Given the description of an element on the screen output the (x, y) to click on. 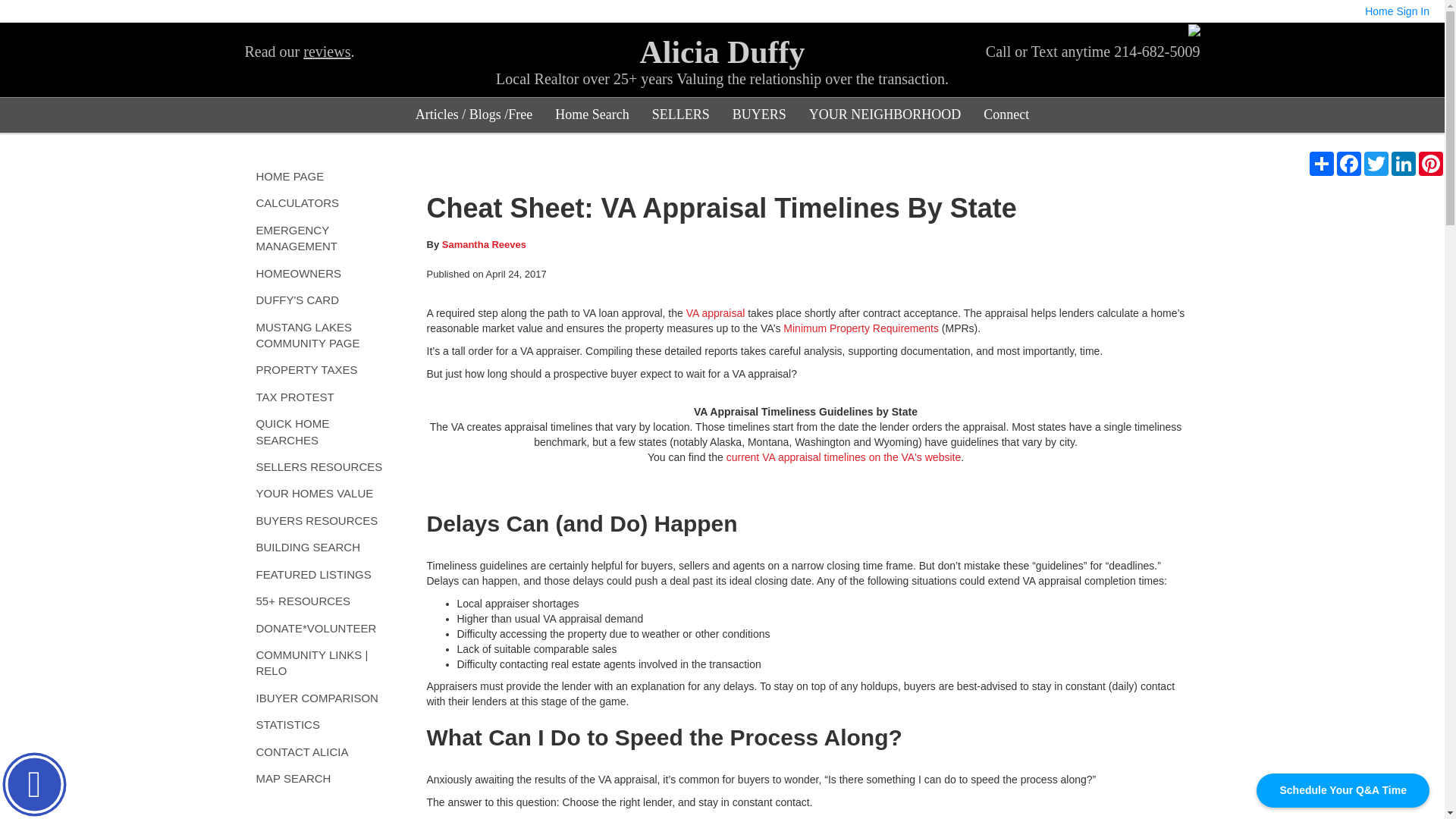
HOMEOWNERS (320, 273)
DUFFY'S CARD (320, 299)
reviews (326, 51)
Home (1379, 10)
Connect (1006, 114)
Tips and Advice on everything related to your home. (473, 114)
MUSTANG LAKES COMMUNITY PAGE (320, 335)
About us, Connect, Review, Contact, Login (1006, 114)
Sign In (1412, 10)
